Given the description of an element on the screen output the (x, y) to click on. 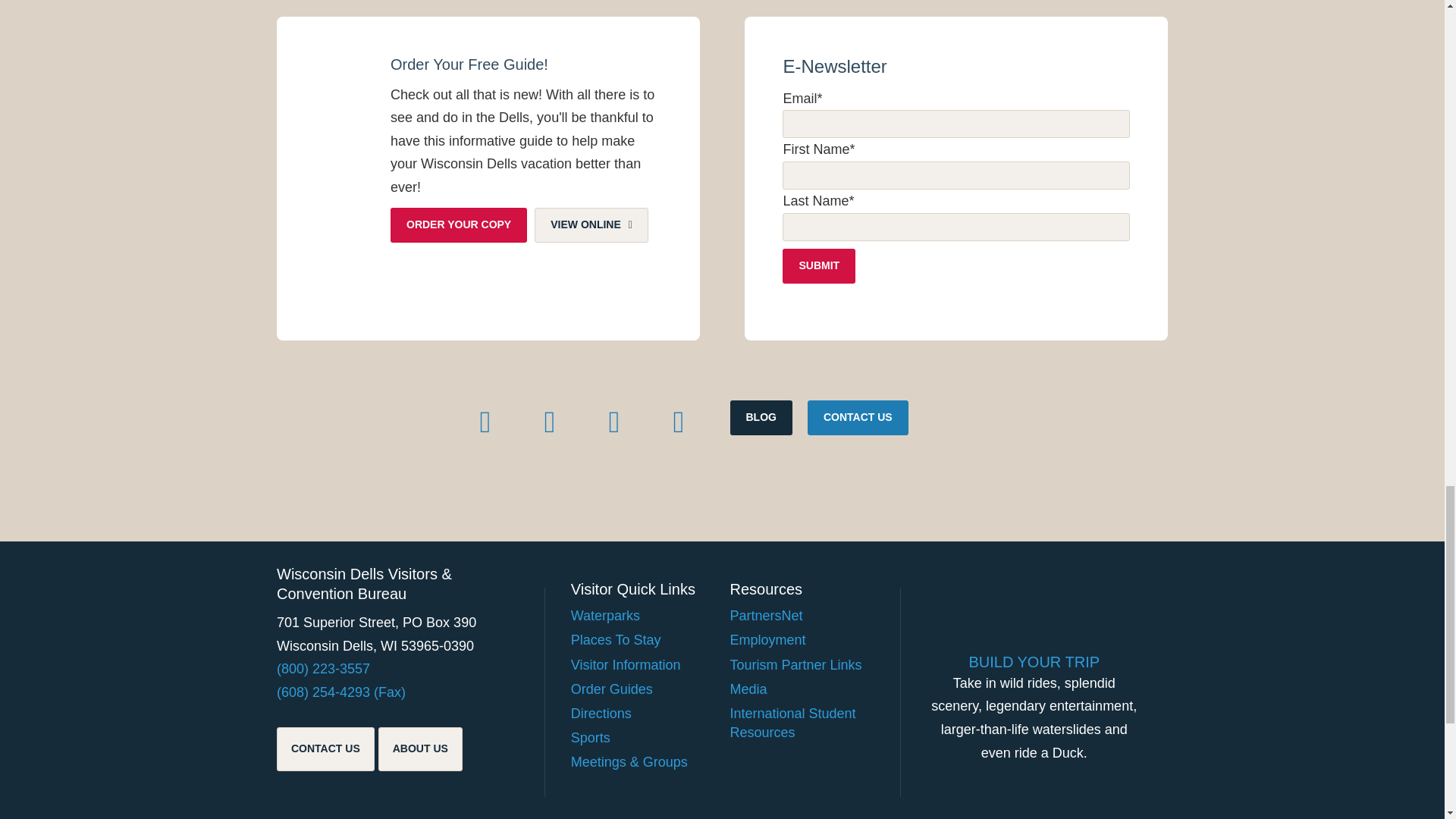
Opens in a new window (590, 225)
ORDER YOUR COPY (458, 225)
Opens in a new window (613, 421)
Opens in a new window (549, 421)
Opens in a new window (678, 421)
Submit (819, 265)
Opens in a new window (485, 421)
VIEW ONLINE (590, 225)
